Given the description of an element on the screen output the (x, y) to click on. 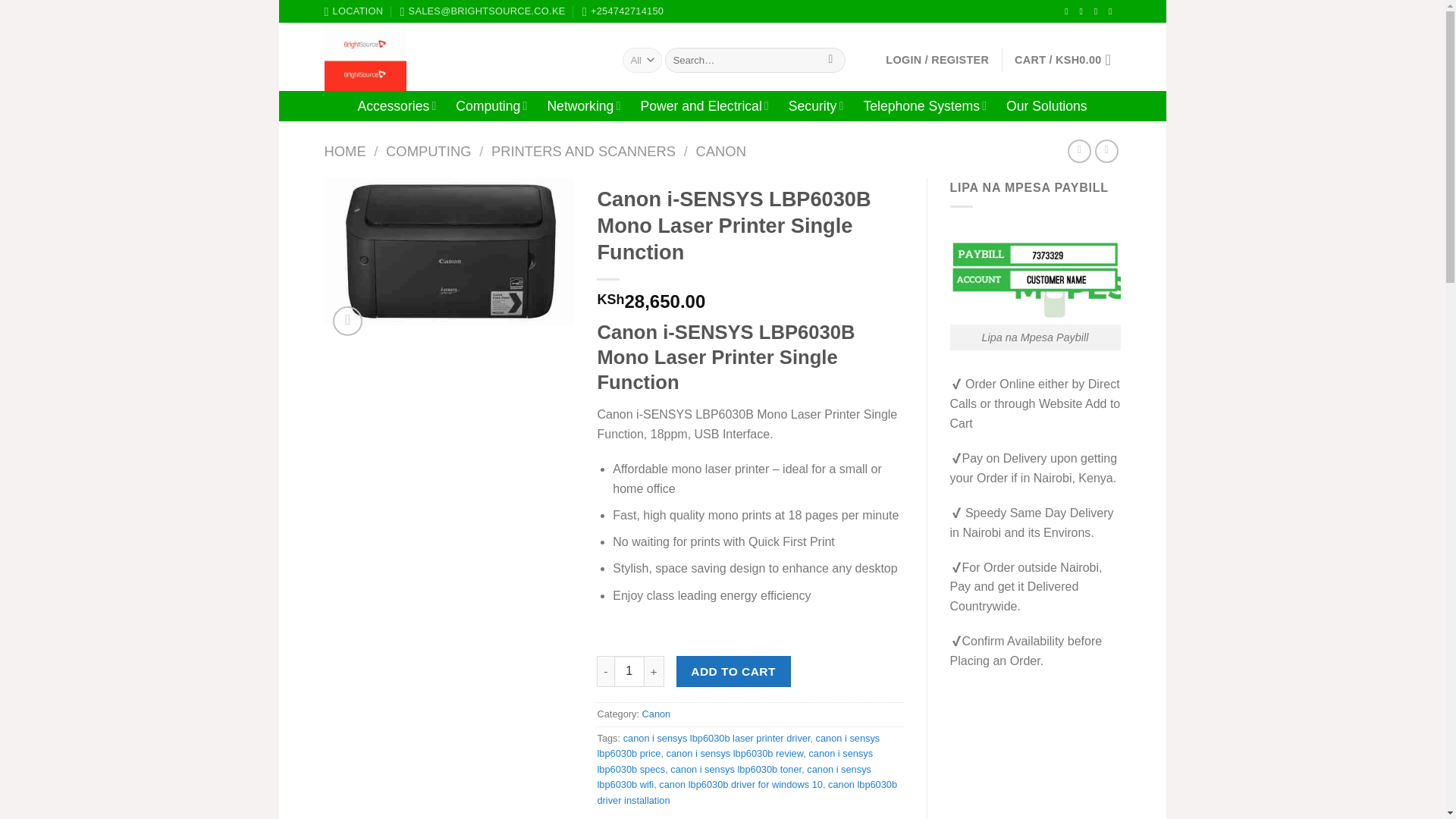
Accessories (395, 105)
Search (830, 60)
1 (629, 671)
Computing (491, 105)
LOCATION (354, 11)
Brightsource Kenya - Technology Everyday (461, 56)
KIMATHI STREET (354, 11)
